Given the description of an element on the screen output the (x, y) to click on. 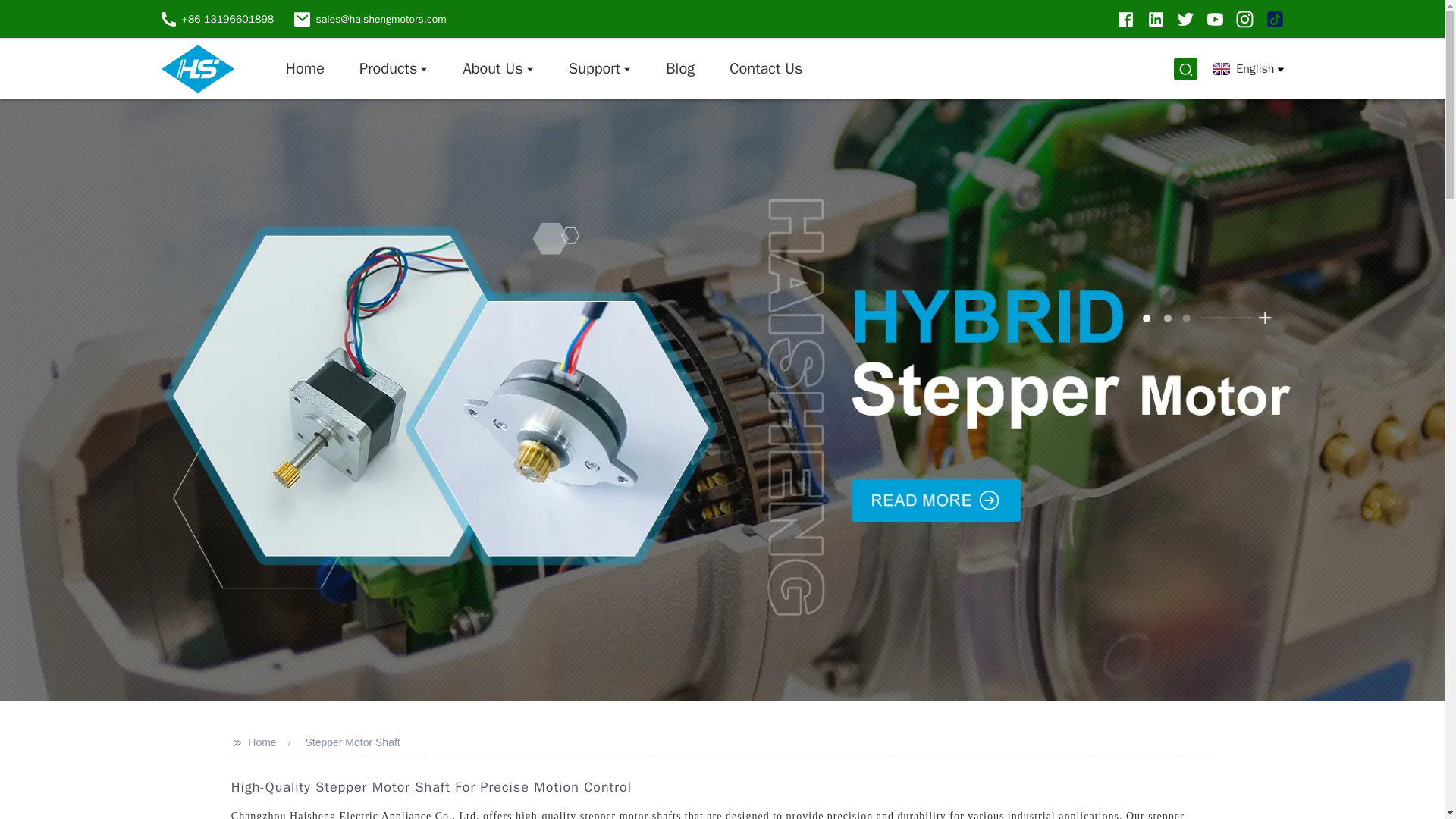
Contact Us (765, 68)
sample-order (599, 68)
Support (599, 68)
Blog (679, 68)
Products (393, 68)
About Us (497, 68)
Blog (679, 68)
Contact Us (765, 68)
Home (304, 68)
products (393, 68)
